Given the description of an element on the screen output the (x, y) to click on. 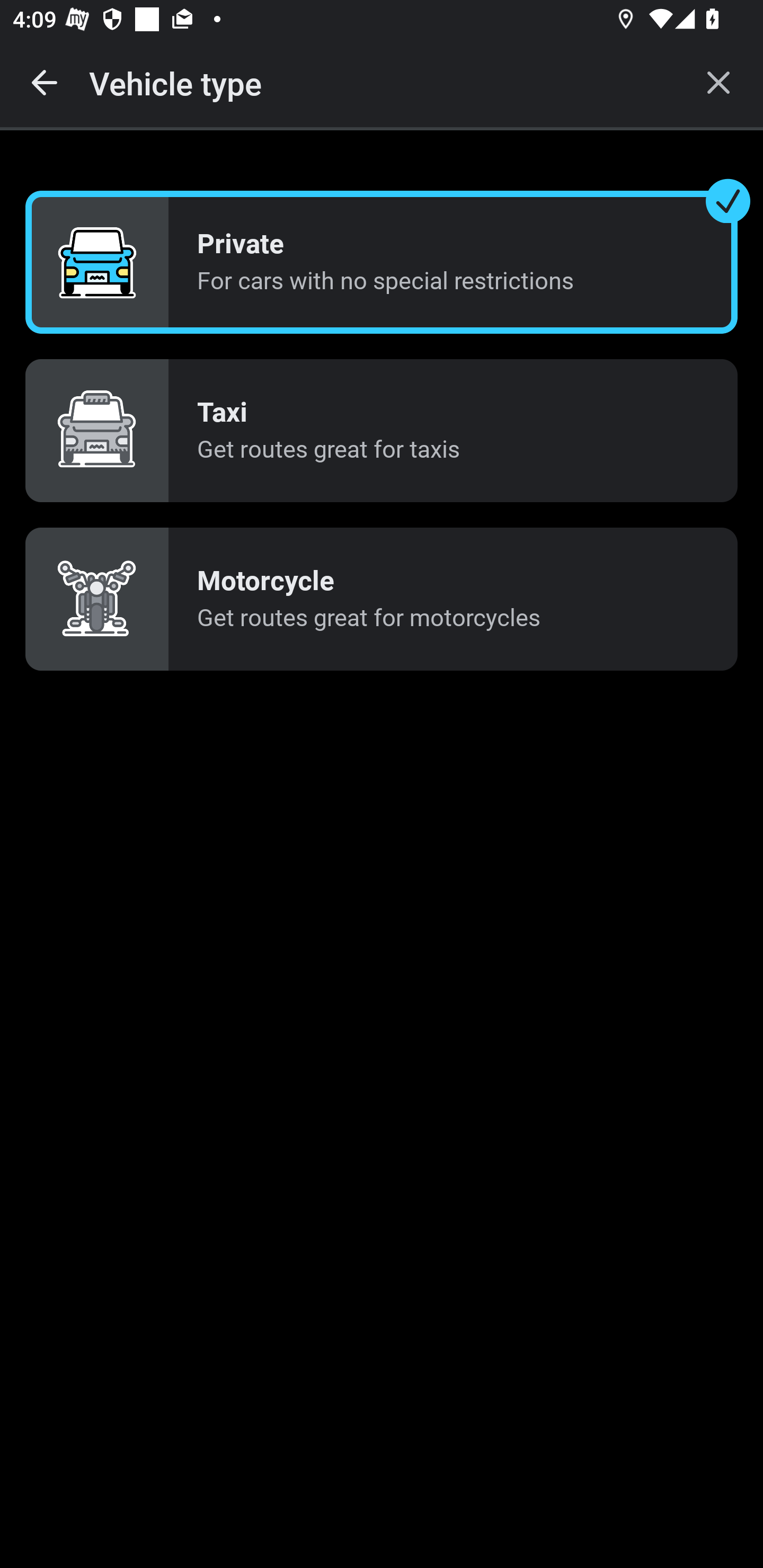
Private For cars with no special restrictions (381, 262)
Taxi Get routes great for taxis (381, 430)
Motorcycle Get routes great for motorcycles (381, 598)
